Given the description of an element on the screen output the (x, y) to click on. 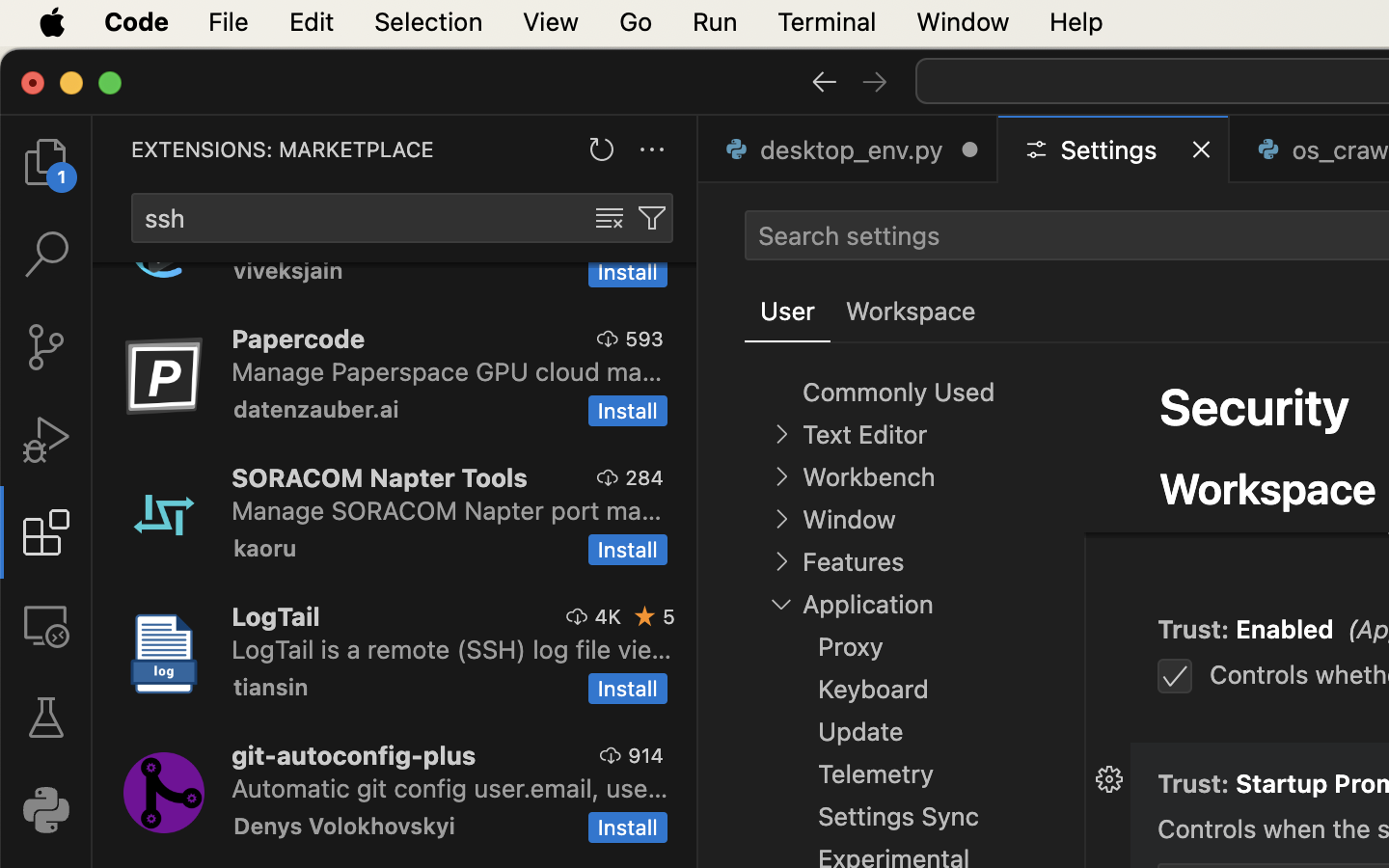
Settings Sync Element type: AXStaticText (898, 816)
 Element type: AXButton (874, 80)
1  Element type: AXRadioButton (46, 532)
